Given the description of an element on the screen output the (x, y) to click on. 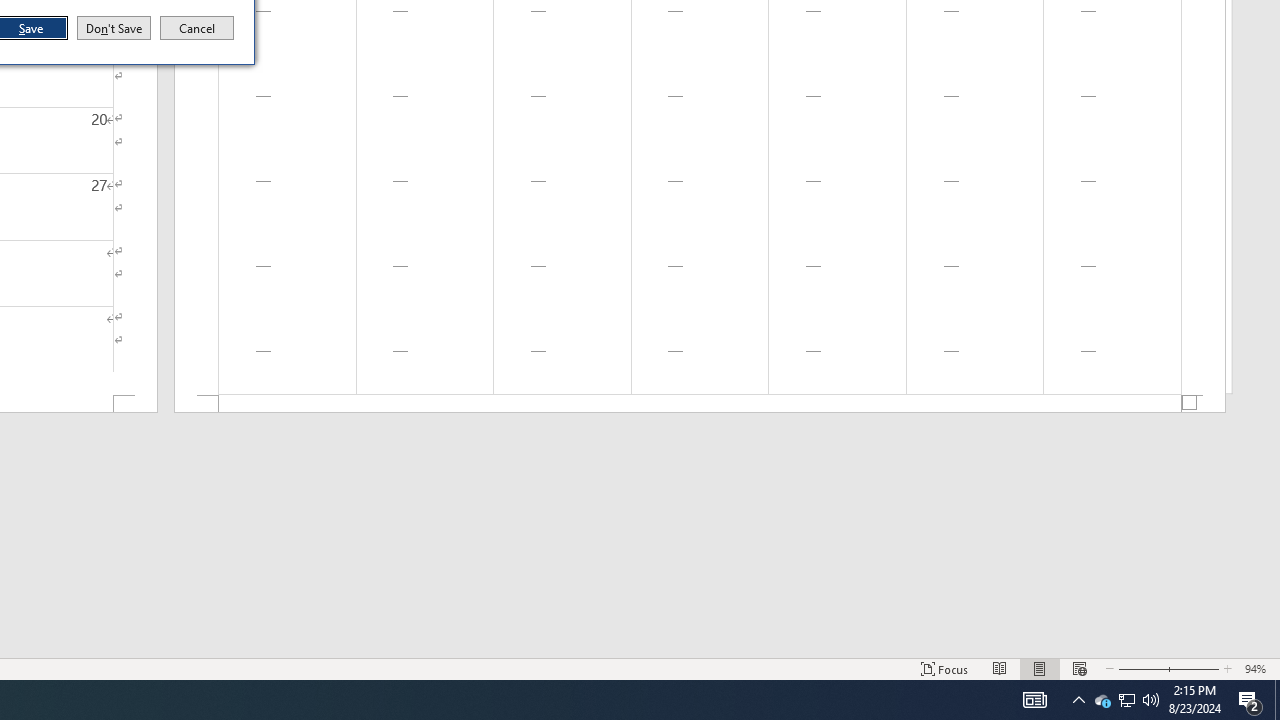
Footer -Section 1- (700, 404)
Action Center, 2 new notifications (1250, 699)
Focus  (1126, 699)
AutomationID: 4105 (944, 668)
Show desktop (1034, 699)
Cancel (1277, 699)
Zoom Out (197, 27)
User Promoted Notification Area (1140, 668)
